Given the description of an element on the screen output the (x, y) to click on. 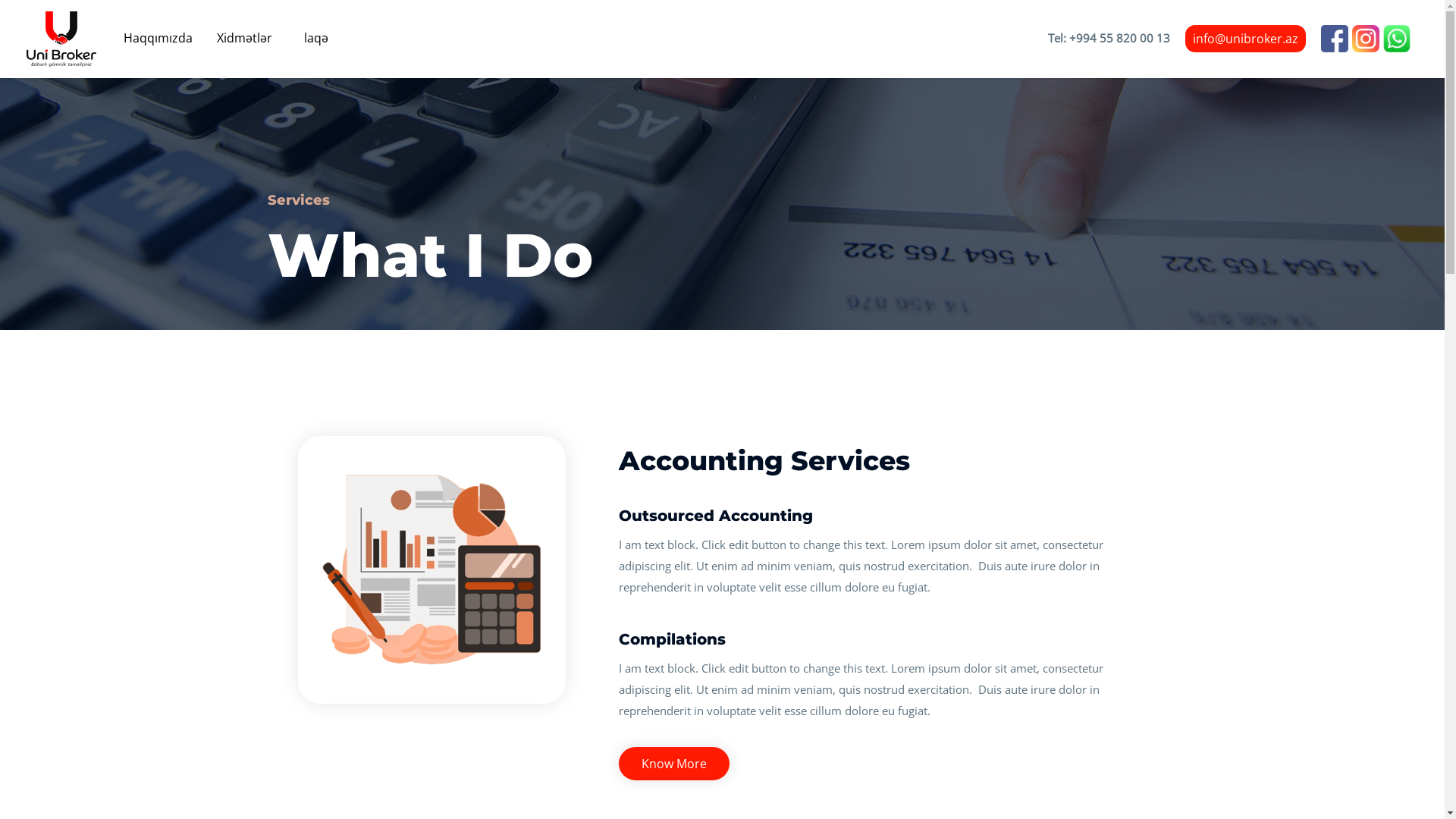
info@unibroker.az Element type: text (1245, 38)
Know More Element type: text (673, 763)
